Given the description of an element on the screen output the (x, y) to click on. 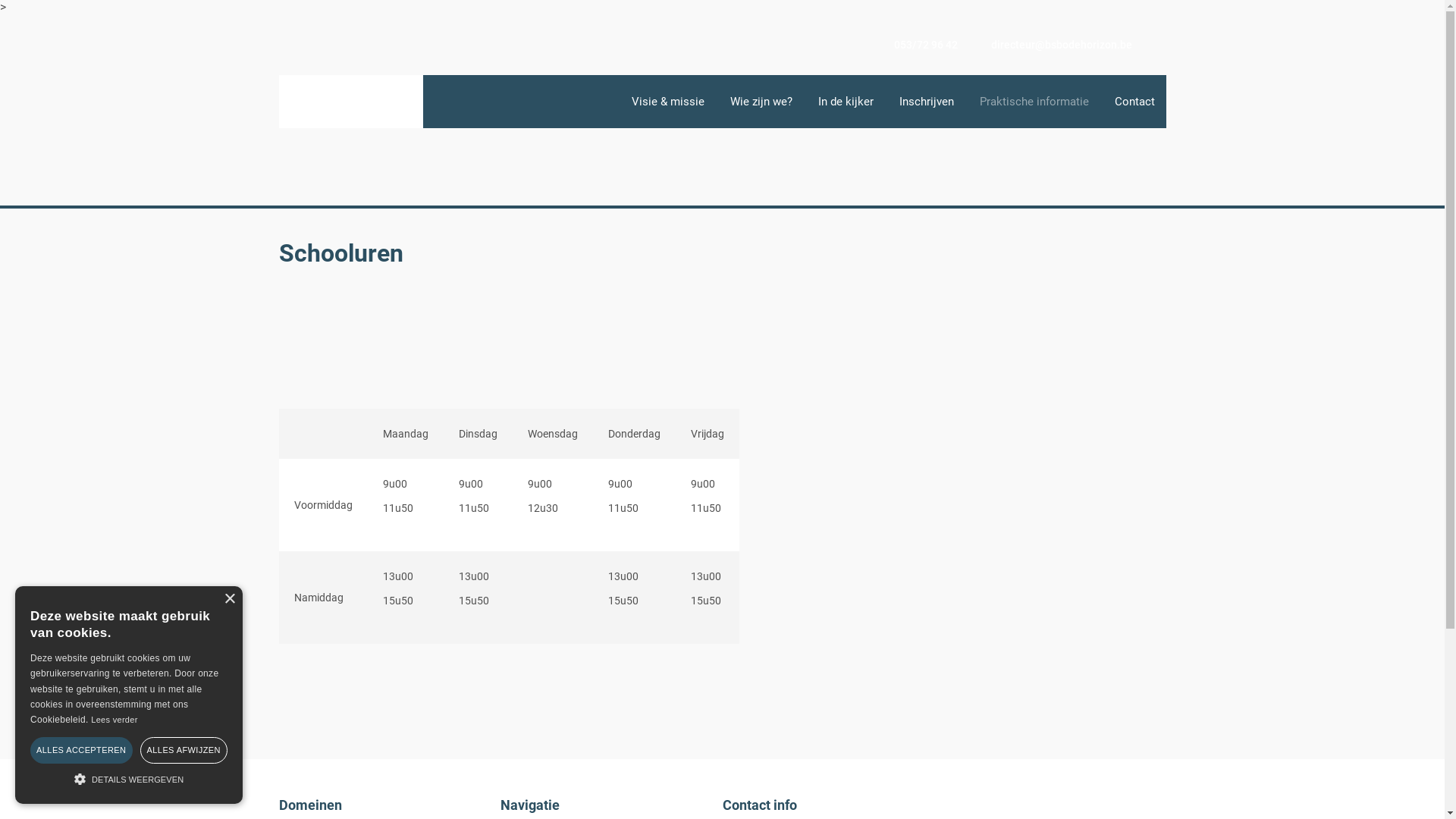
Praktische informatie Element type: text (380, 82)
In de kijker Element type: text (845, 101)
Wie zijn we? Element type: text (760, 101)
053/72 96 42 Element type: text (909, 44)
Homepagina Element type: text (605, 101)
Lees verder Element type: text (114, 719)
Home Element type: text (294, 82)
directeur@bsbodehorizon.be Element type: text (1045, 44)
Visie & missie Element type: text (667, 101)
Contact Element type: text (1133, 101)
Inschrijven Element type: text (925, 101)
Praktische informatie Element type: text (1033, 101)
